Given the description of an element on the screen output the (x, y) to click on. 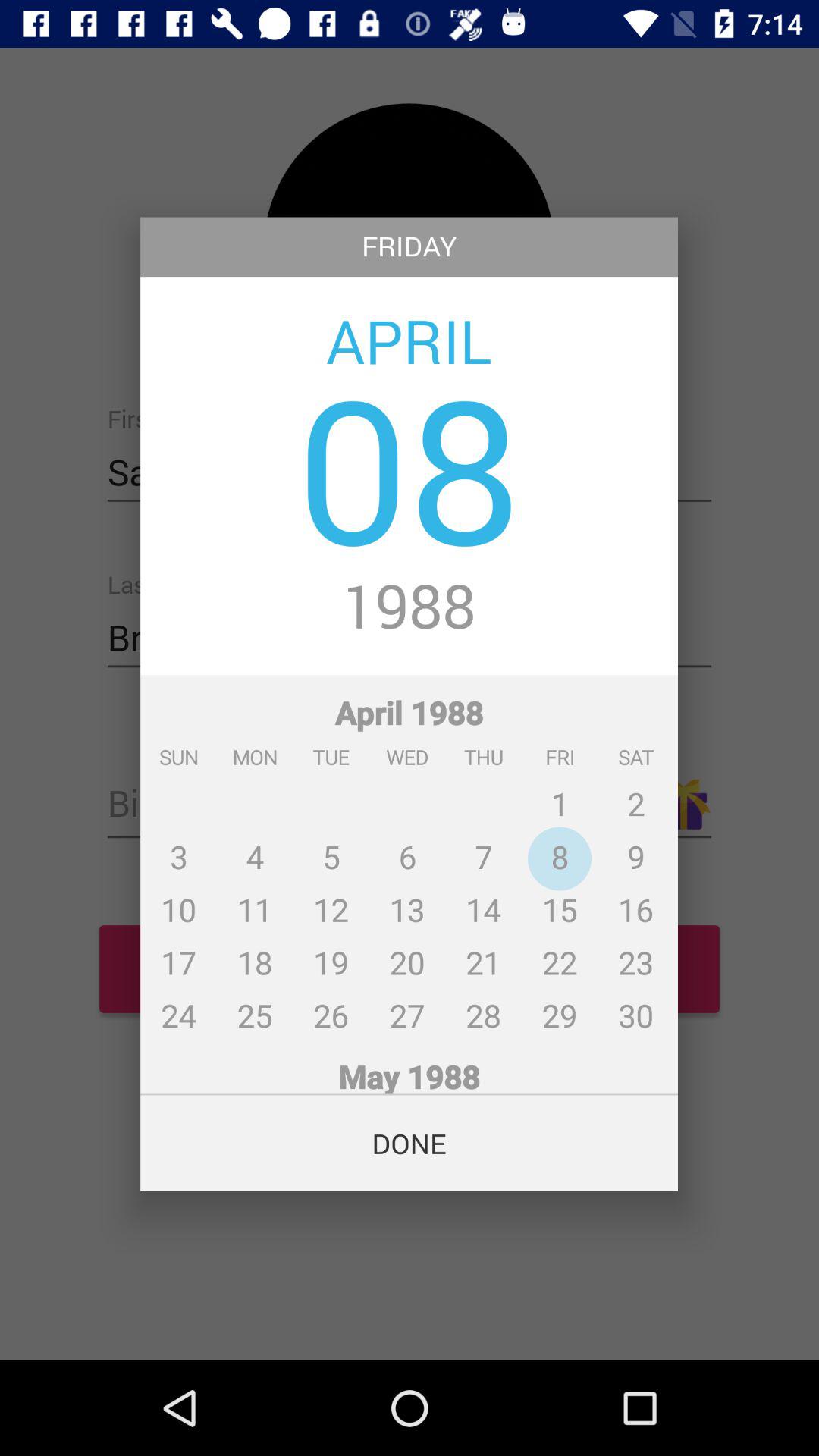
launch the icon below the 1988 item (408, 857)
